Given the description of an element on the screen output the (x, y) to click on. 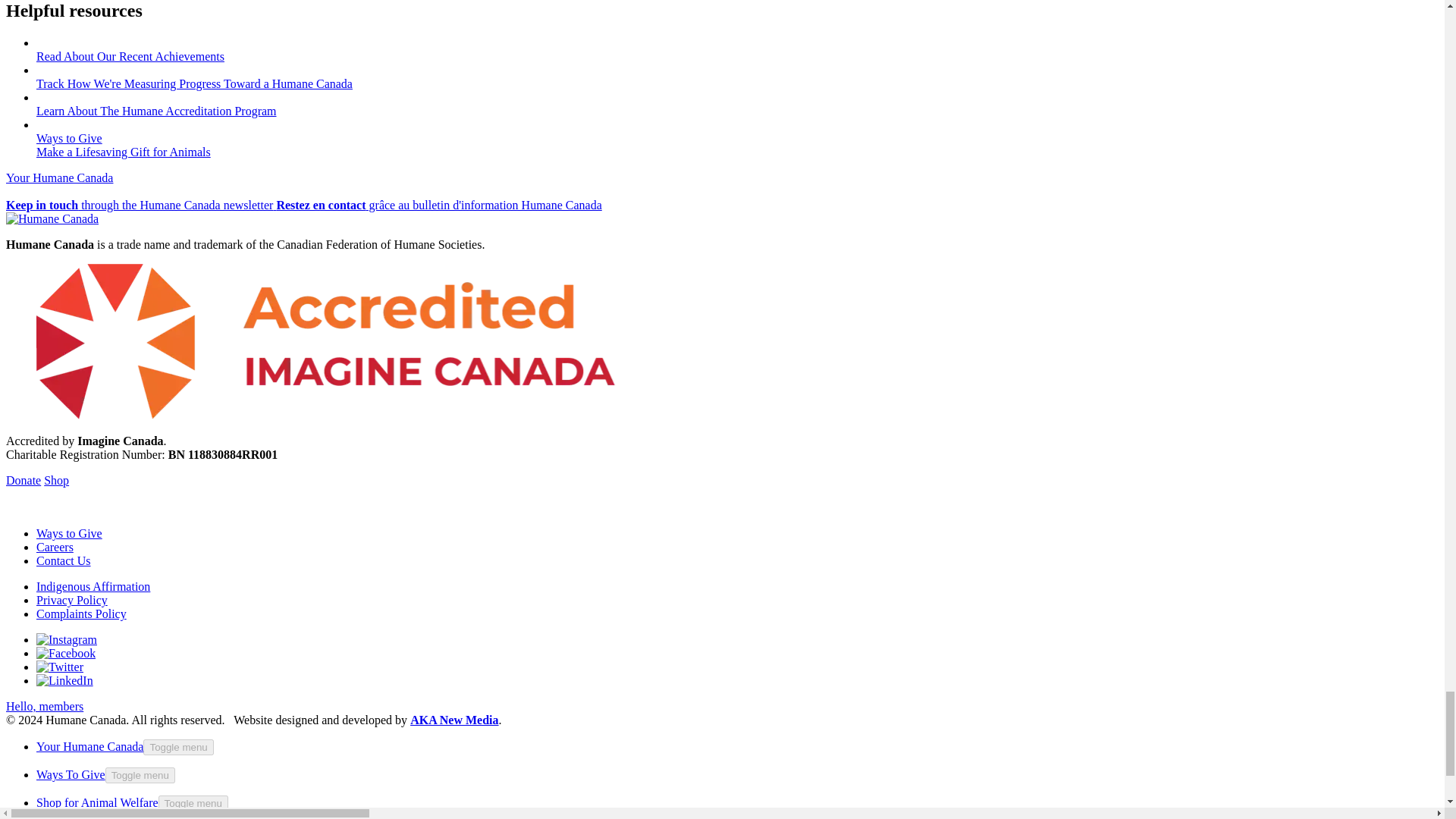
Toggle menu (193, 803)
Toggle menu (139, 774)
Toggle menu (177, 747)
